Given the description of an element on the screen output the (x, y) to click on. 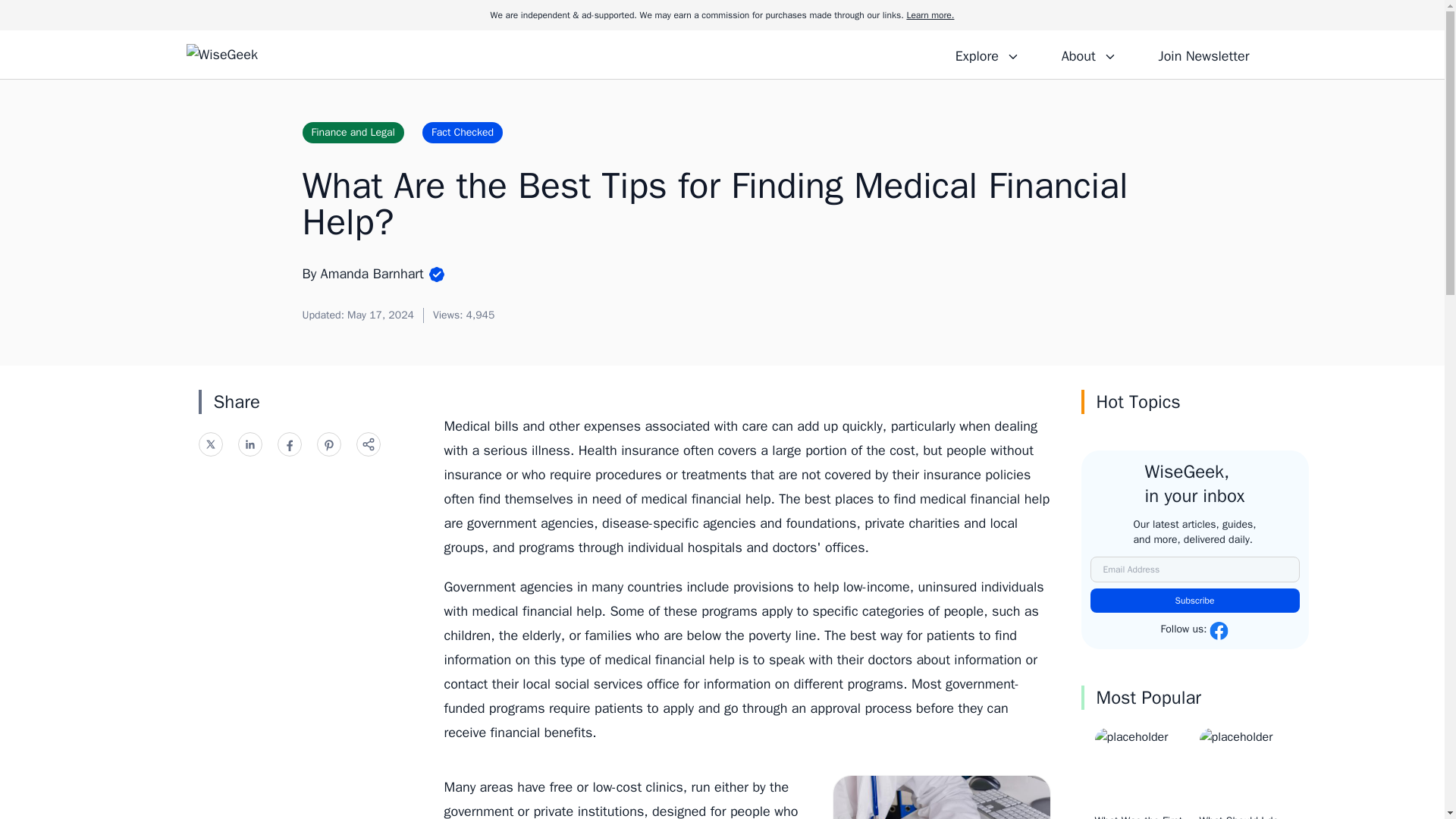
Explore (986, 54)
Learn more. (929, 15)
About (1088, 54)
Finance and Legal (352, 132)
Fact Checked (462, 132)
Join Newsletter (1202, 54)
